Given the description of an element on the screen output the (x, y) to click on. 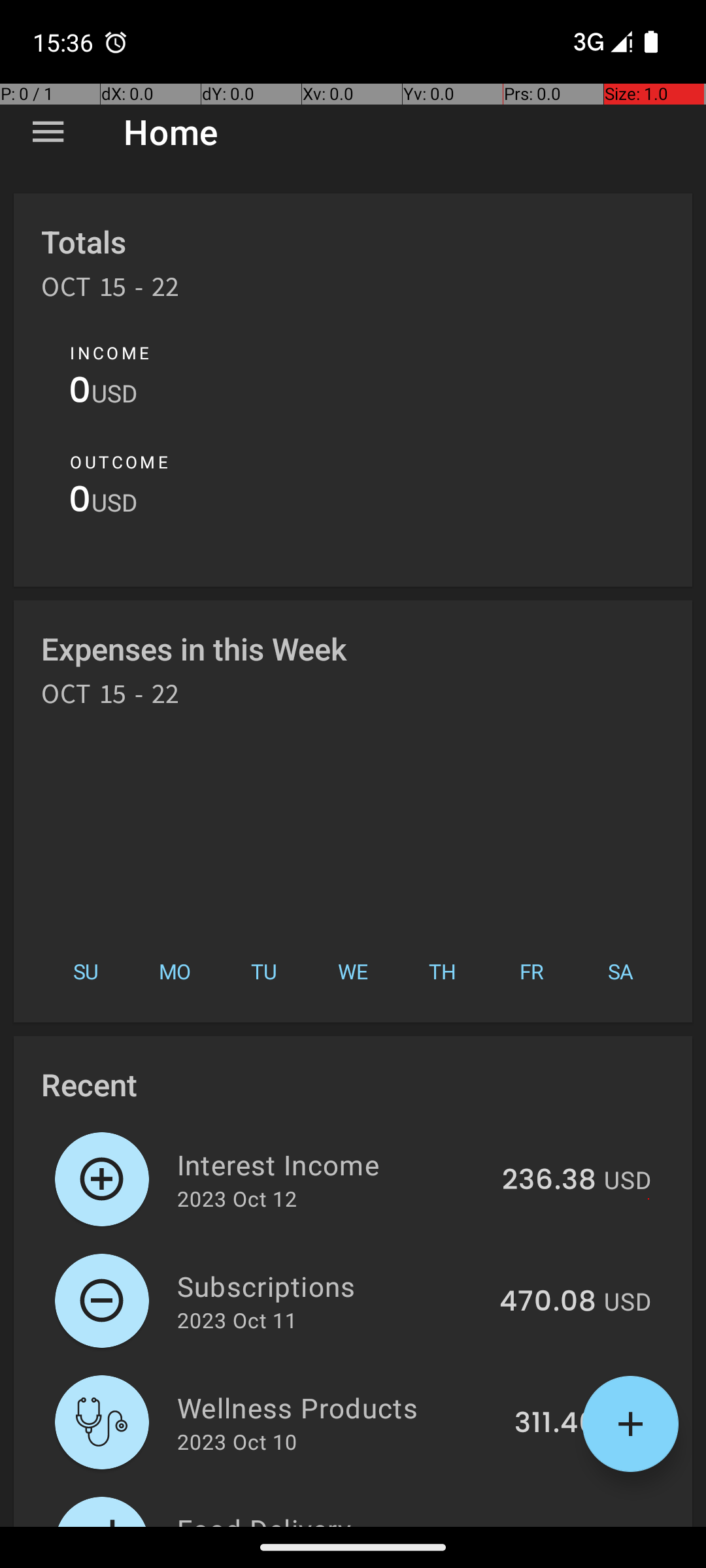
Interest Income Element type: android.widget.TextView (331, 1164)
236.38 Element type: android.widget.TextView (548, 1180)
470.08 Element type: android.widget.TextView (547, 1301)
311.46 Element type: android.widget.TextView (554, 1423)
Food Delivery Element type: android.widget.TextView (334, 1518)
298.51 Element type: android.widget.TextView (551, 1524)
